Given the description of an element on the screen output the (x, y) to click on. 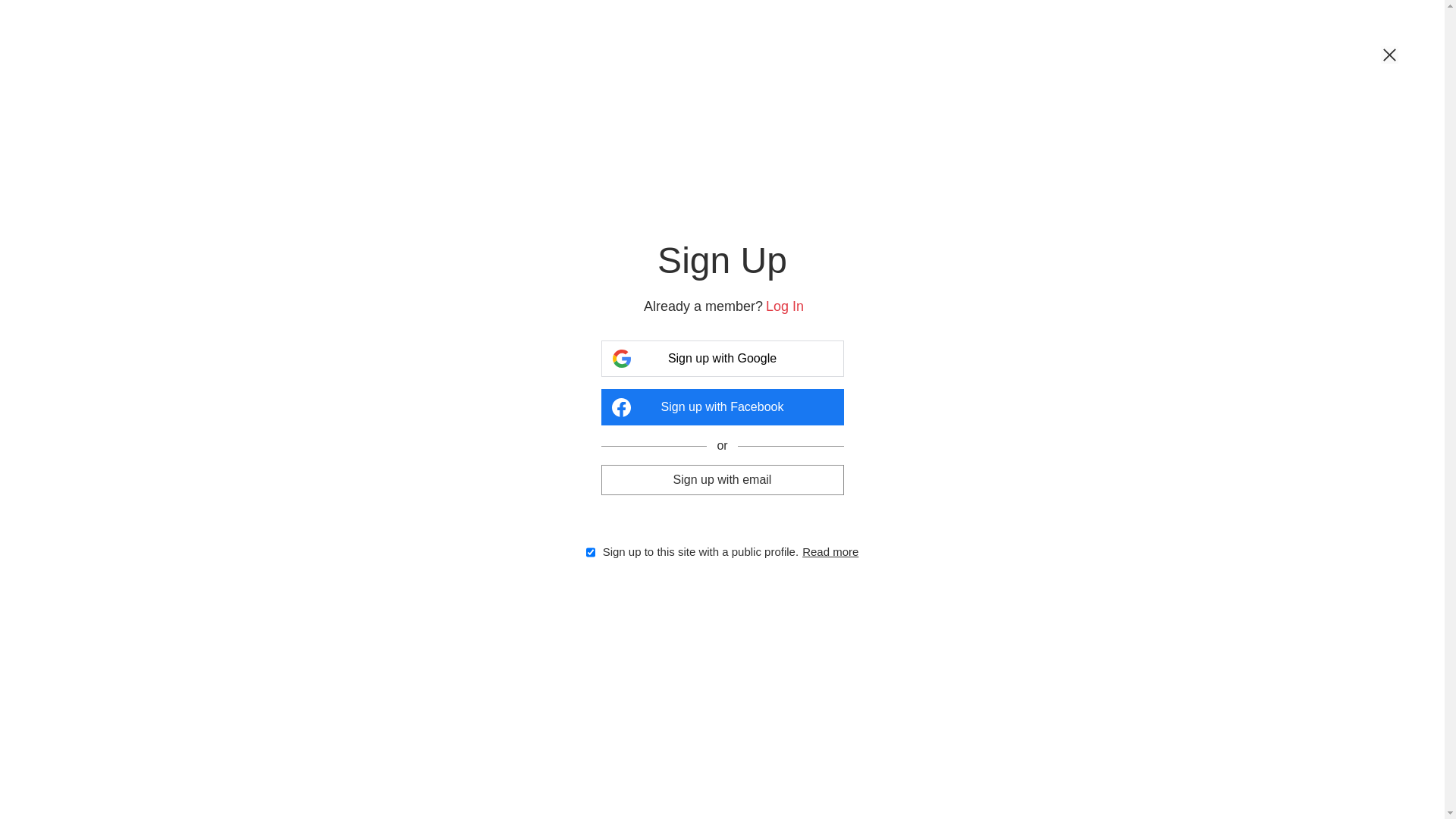
Read more Element type: text (830, 551)
Sign up with Facebook Element type: text (721, 407)
Sign up with Google Element type: text (721, 358)
Sign up with email Element type: text (721, 479)
Log In Element type: text (784, 306)
